Given the description of an element on the screen output the (x, y) to click on. 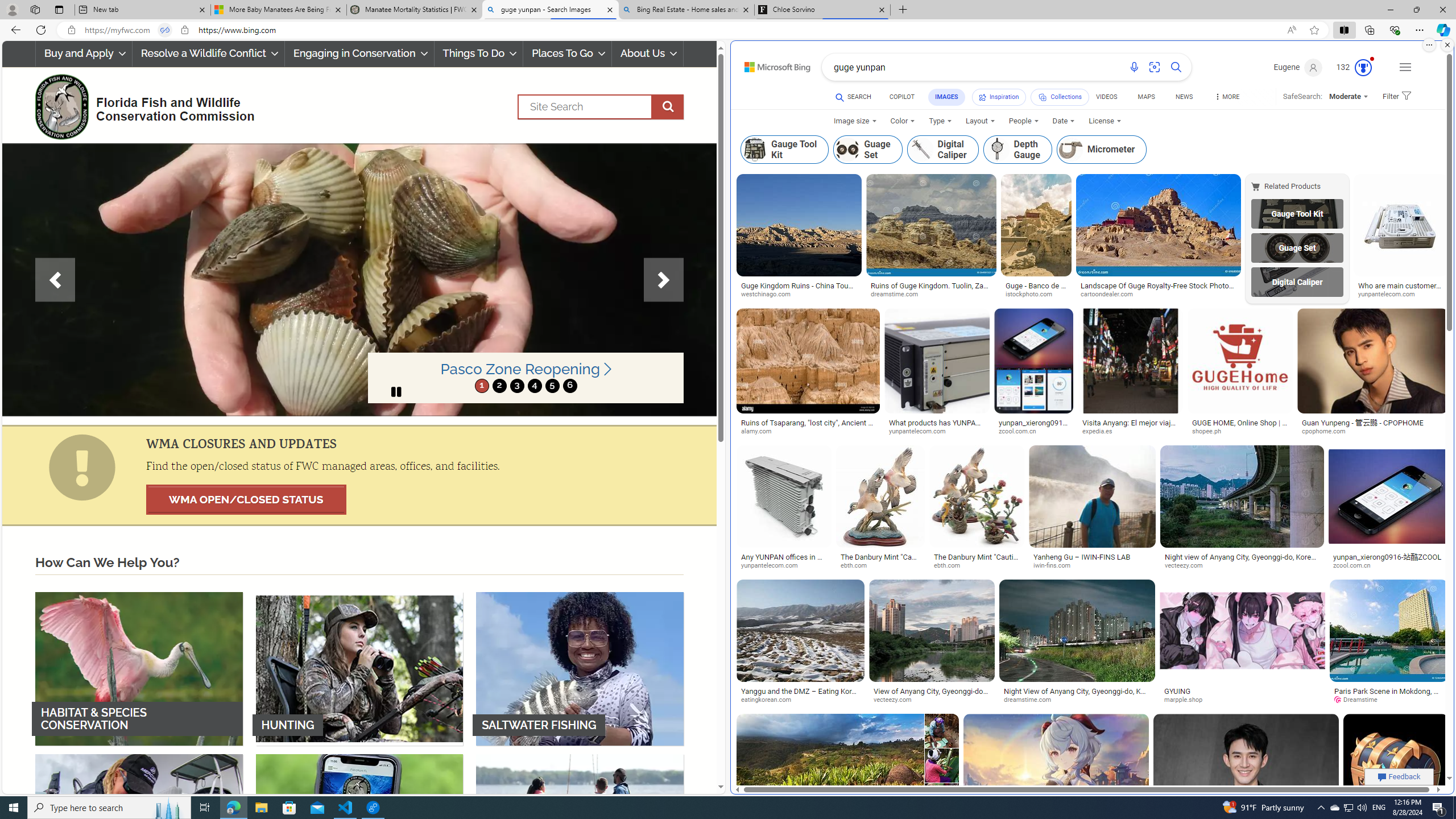
Inspiration (998, 96)
Guage Set (1296, 247)
NEWS (1183, 96)
move to slide 5 (551, 385)
SALTWATER FISHING (580, 668)
cpophome.com (1371, 431)
Guge Digital Caliper (1296, 281)
